Given the description of an element on the screen output the (x, y) to click on. 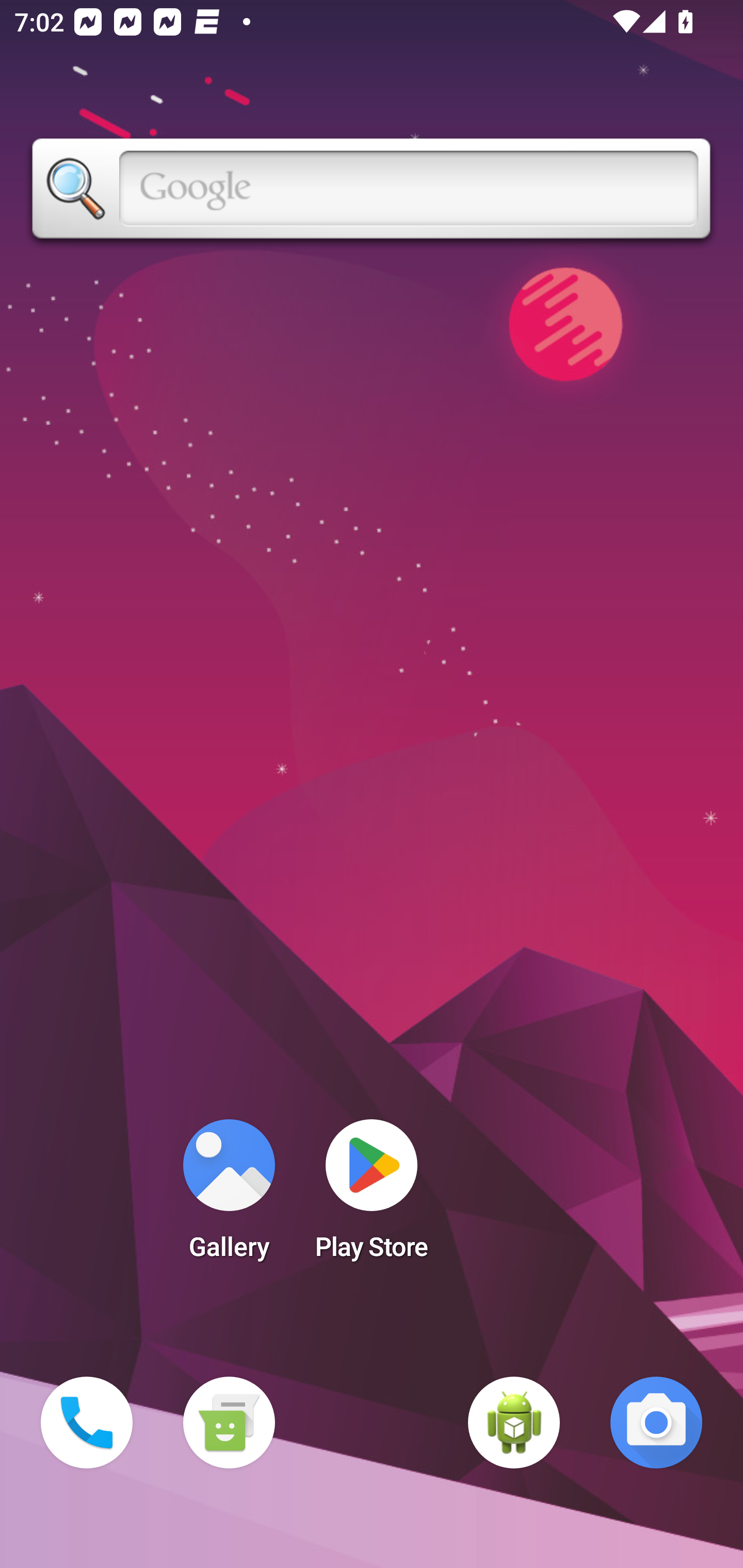
Gallery (228, 1195)
Play Store (371, 1195)
Phone (86, 1422)
Messaging (228, 1422)
WebView Browser Tester (513, 1422)
Camera (656, 1422)
